Given the description of an element on the screen output the (x, y) to click on. 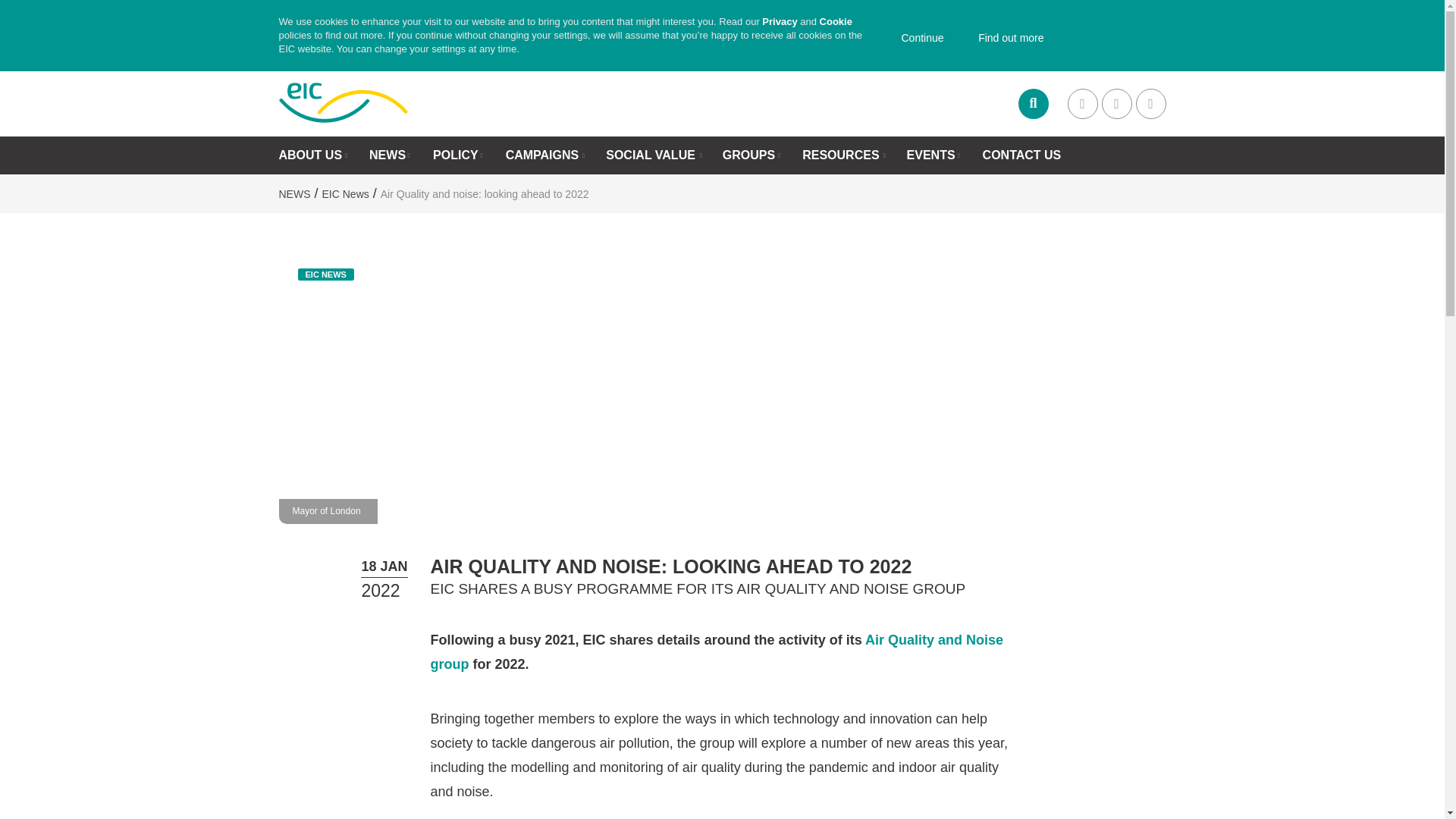
POLICY (455, 155)
ABOUT US (310, 155)
Mayor of London (326, 511)
GROUPS (748, 155)
Privacy (778, 21)
Air quality (717, 651)
NEWS (387, 155)
Continue (914, 40)
CAMPAIGNS (542, 155)
Cookie (835, 21)
